Given the description of an element on the screen output the (x, y) to click on. 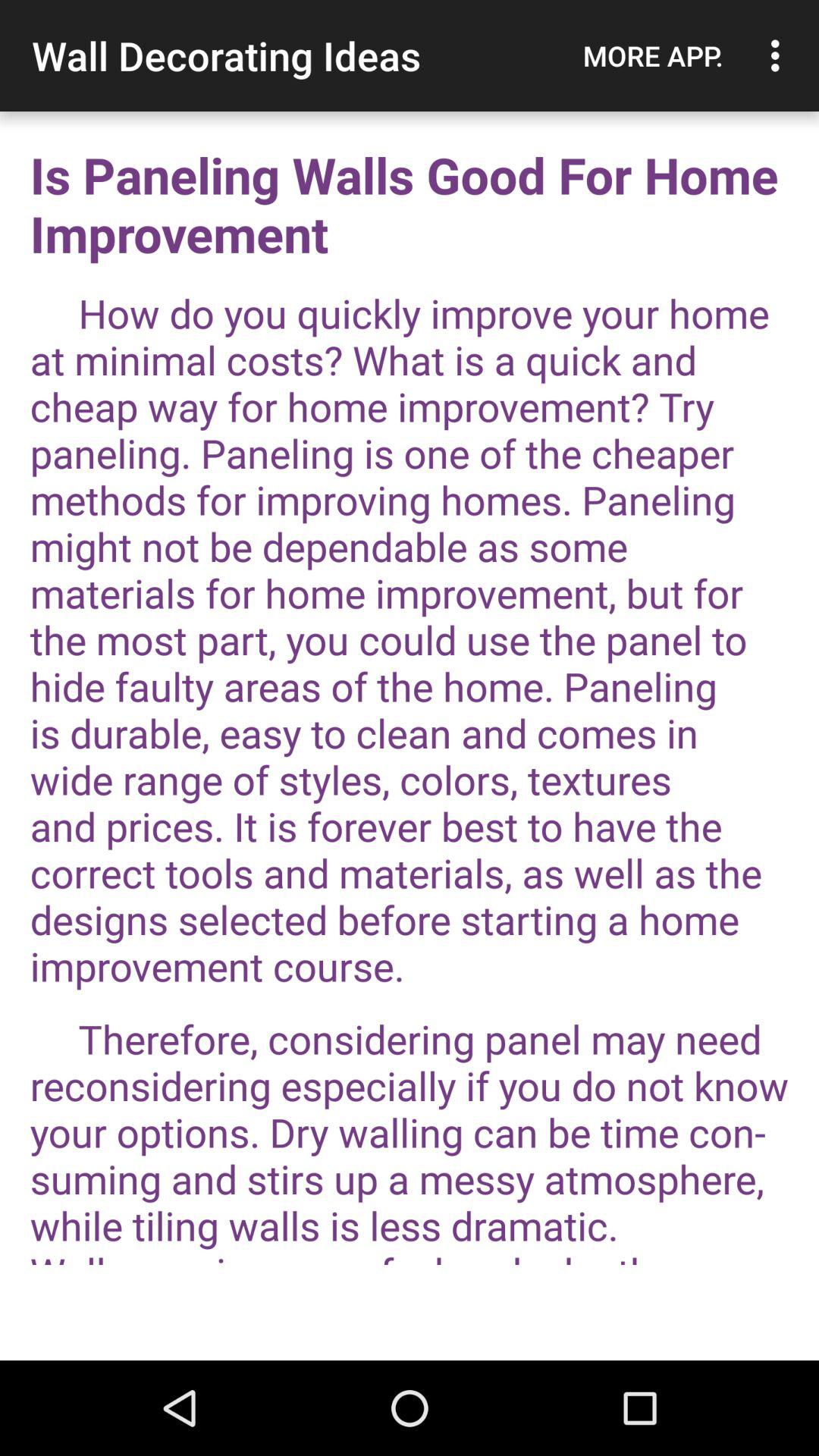
scroll until more app. icon (653, 55)
